Given the description of an element on the screen output the (x, y) to click on. 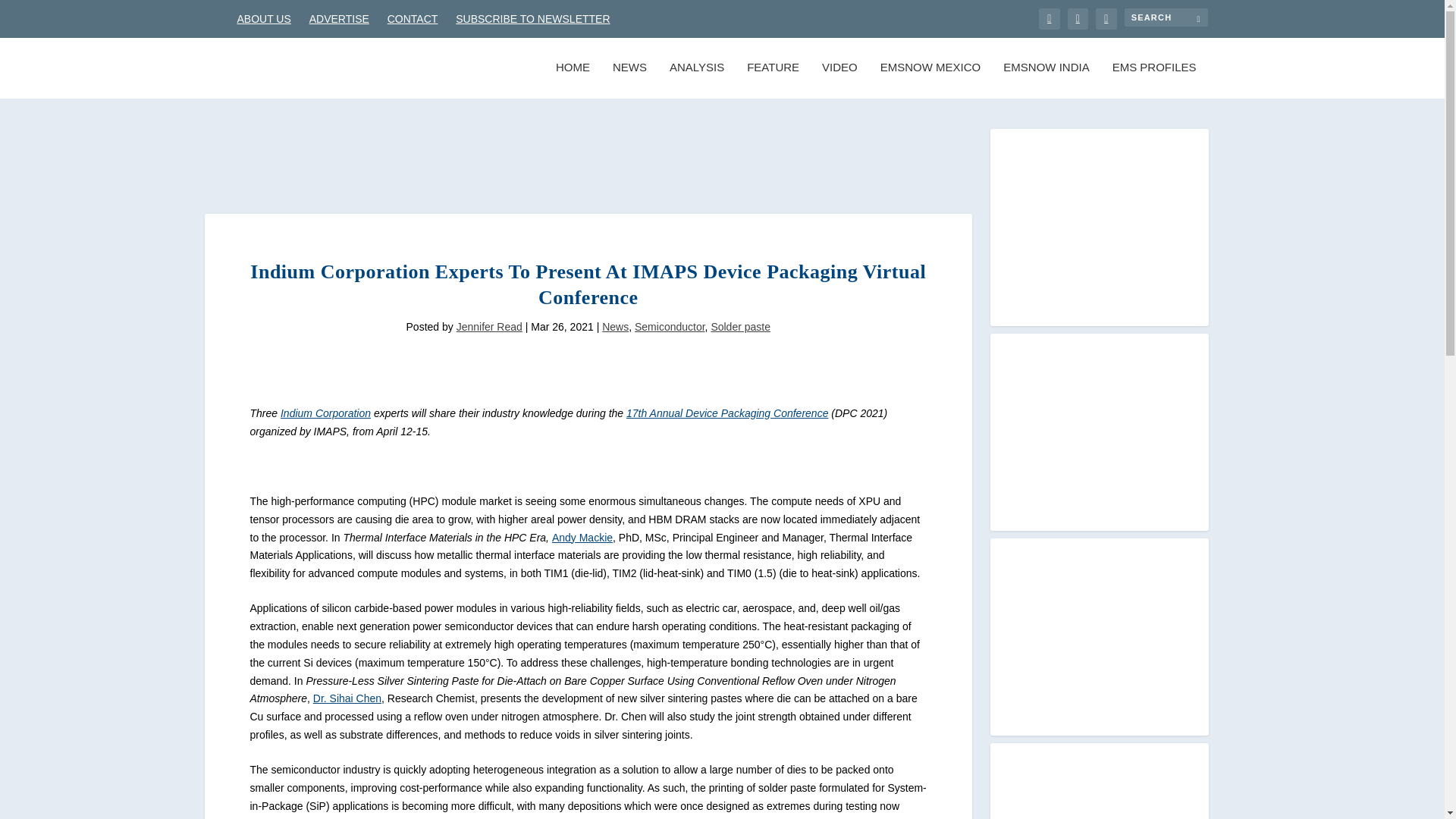
News (615, 326)
VIDEO (839, 79)
FEATURE (772, 79)
Semiconductor (669, 326)
Jennifer Read (489, 326)
NEWS (629, 79)
Solder paste (740, 326)
ADVERTISE (338, 18)
CONTACT (412, 18)
Indium Corporation (326, 413)
EMS PROFILES (1154, 79)
17th Annual Device Packaging Conference (727, 413)
ANALYSIS (696, 79)
Posts by Jennifer Read (489, 326)
Dr. Sihai Chen (347, 698)
